Given the description of an element on the screen output the (x, y) to click on. 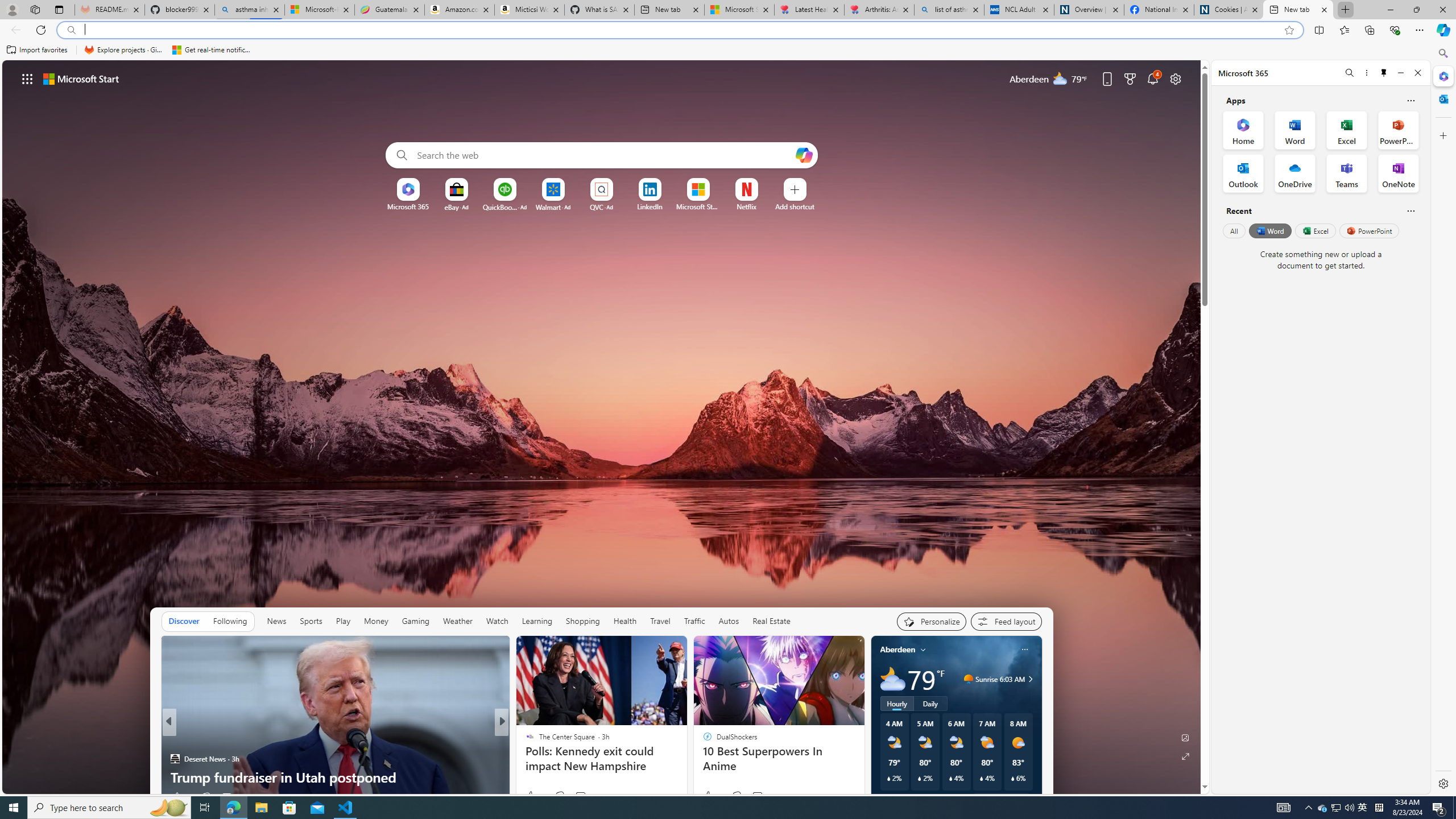
App launcher (27, 78)
Search icon (70, 29)
Analyst resets Nvidia stock price target before earnings (684, 767)
80 Like (530, 796)
View comments 31 Comment (580, 797)
